Given the description of an element on the screen output the (x, y) to click on. 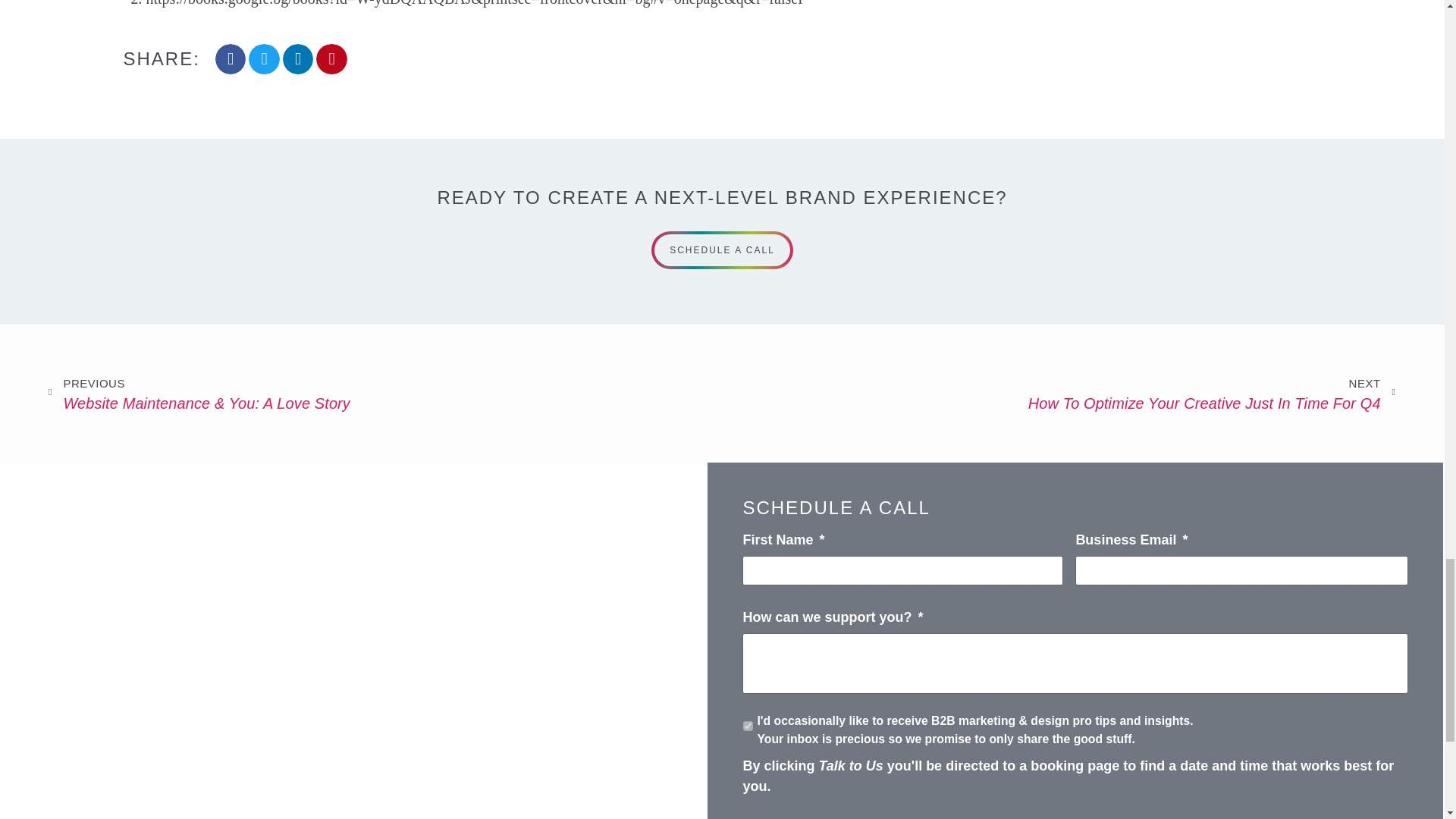
SCHEDULE A CALL (1058, 393)
